Given the description of an element on the screen output the (x, y) to click on. 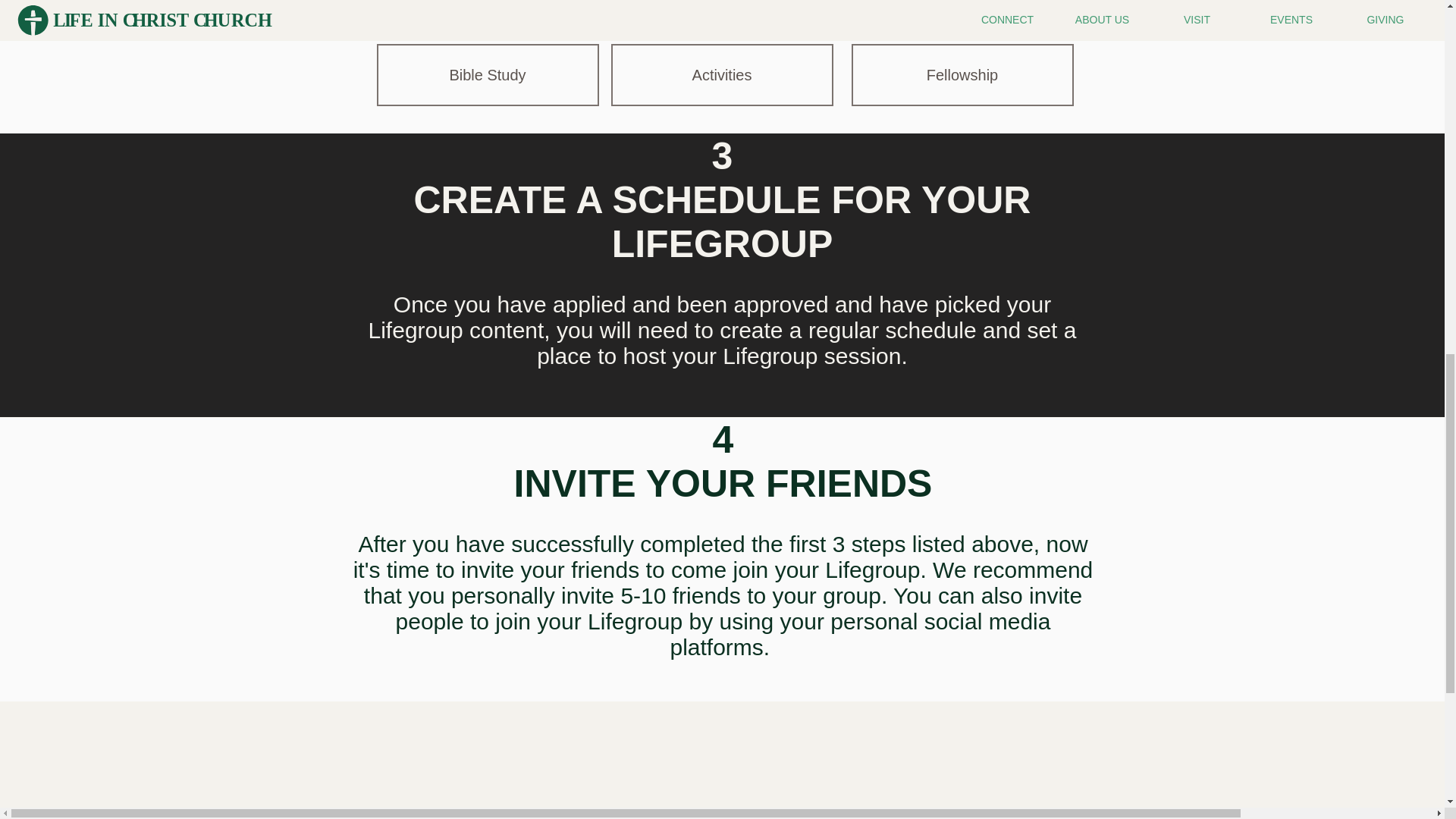
Bible Study (486, 75)
Fellowship (961, 75)
Activities (721, 75)
